Given the description of an element on the screen output the (x, y) to click on. 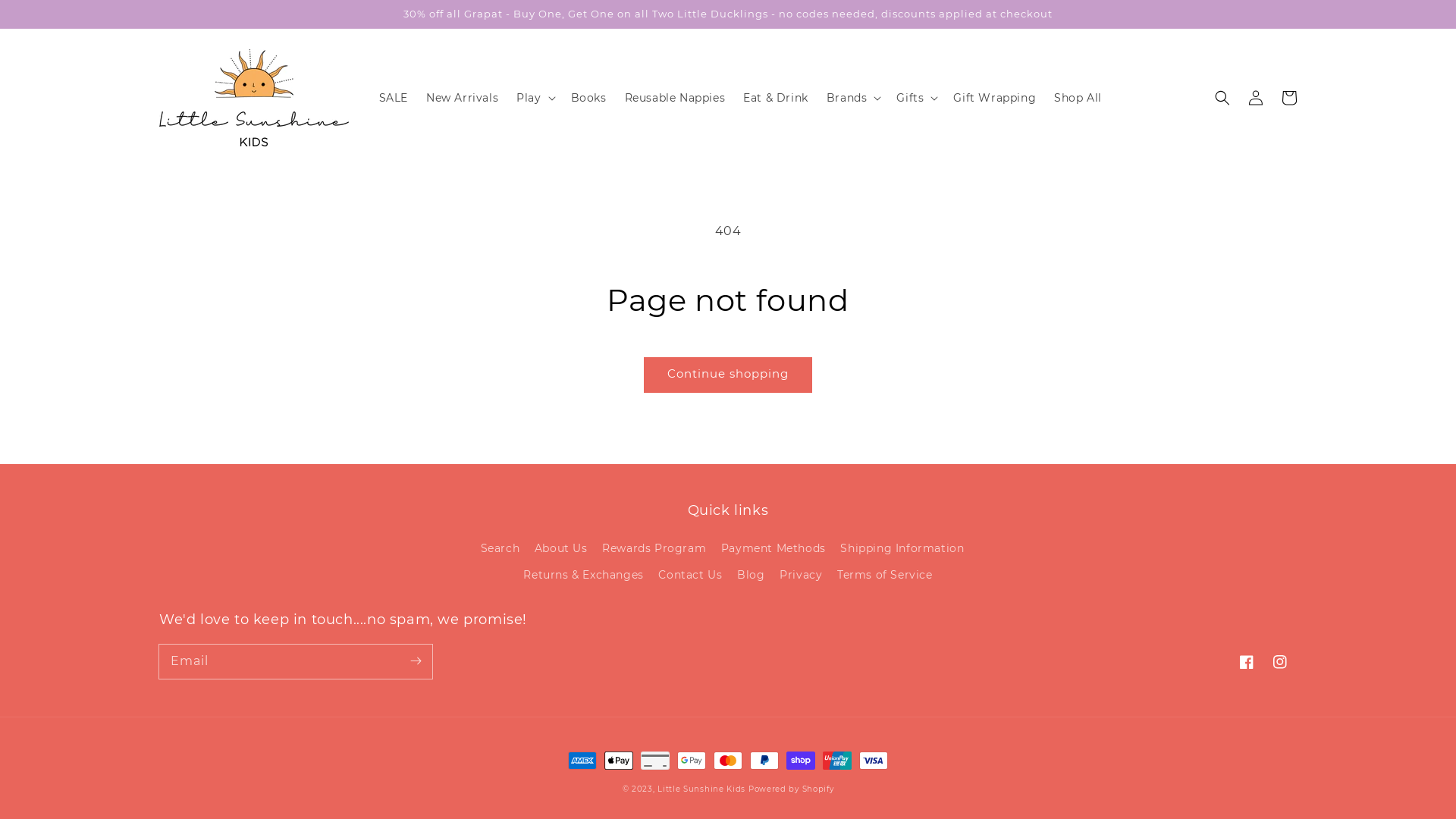
Books Element type: text (588, 97)
Terms of Service Element type: text (884, 574)
Reusable Nappies Element type: text (674, 97)
Shop All Element type: text (1077, 97)
Little Sunshine Kids Element type: text (701, 788)
Facebook Element type: text (1246, 661)
Shipping Information Element type: text (901, 548)
Instagram Element type: text (1279, 661)
New Arrivals Element type: text (462, 97)
Rewards Program Element type: text (654, 548)
Gift Wrapping Element type: text (994, 97)
Cart Element type: text (1288, 97)
About Us Element type: text (560, 548)
Privacy Element type: text (800, 574)
Continue shopping Element type: text (727, 374)
Powered by Shopify Element type: text (791, 788)
Payment Methods Element type: text (773, 548)
SALE Element type: text (393, 97)
Search Element type: text (500, 550)
Eat & Drink Element type: text (775, 97)
Blog Element type: text (750, 574)
Contact Us Element type: text (689, 574)
Log in Element type: text (1255, 97)
Returns & Exchanges Element type: text (583, 574)
